Given the description of an element on the screen output the (x, y) to click on. 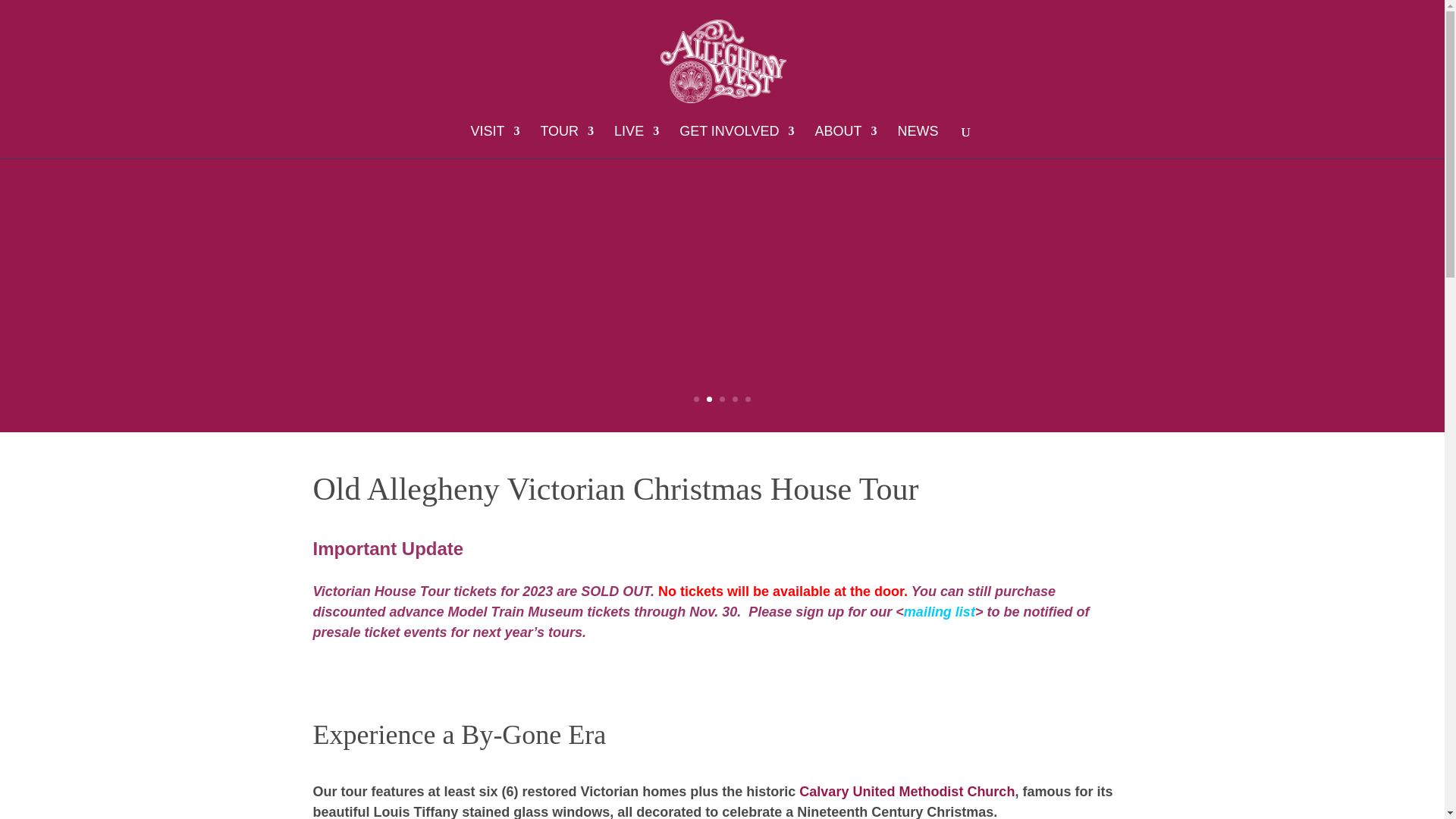
NEWS (918, 142)
LIVE (636, 142)
VISIT (494, 142)
GET INVOLVED (736, 142)
ABOUT (846, 142)
TOUR (567, 142)
